Given the description of an element on the screen output the (x, y) to click on. 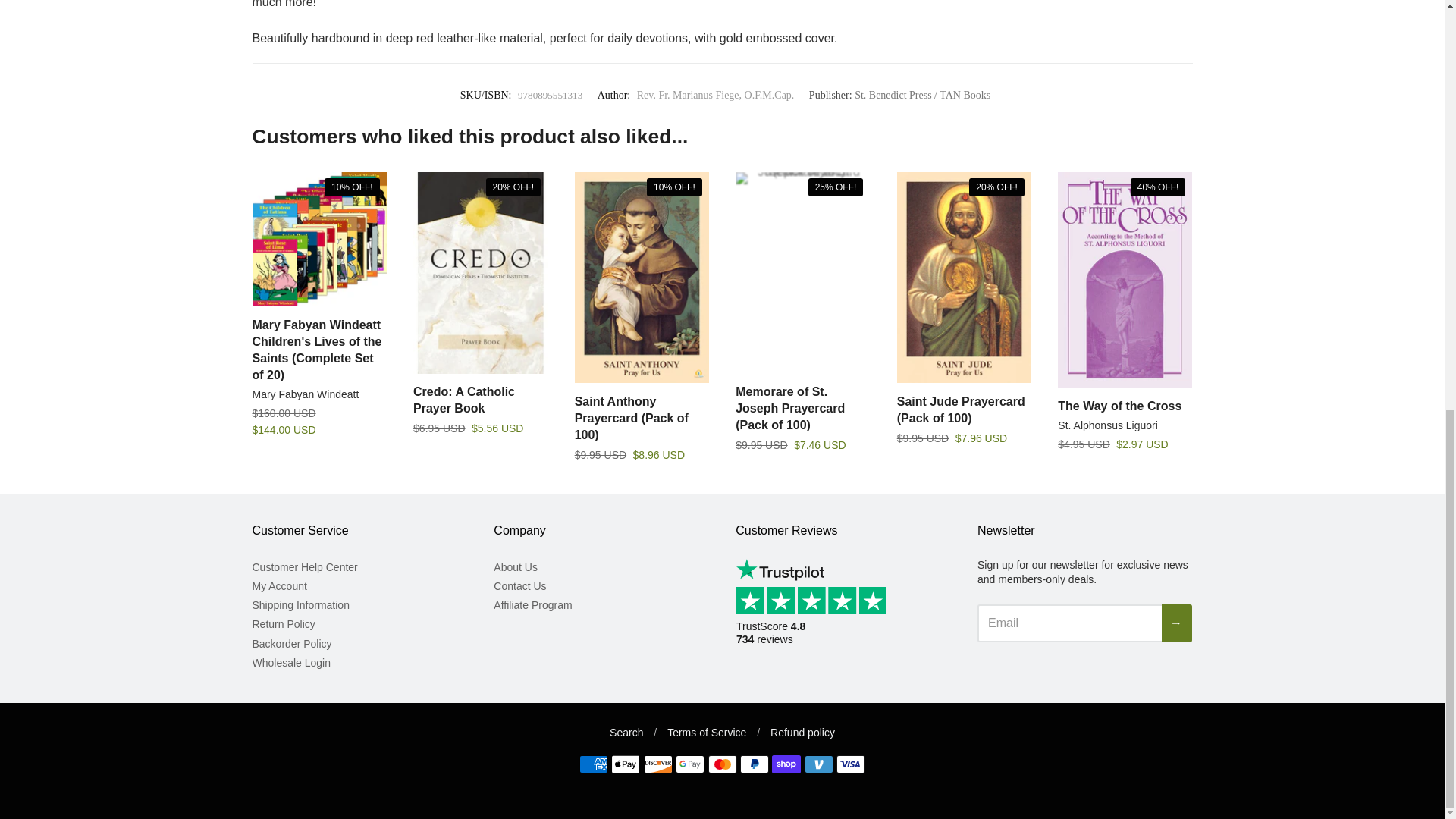
Credo: A Catholic Prayer Book (464, 399)
Shop Pay (785, 764)
Customer reviews powered by Trustpilot (815, 614)
PayPal (753, 764)
Mastercard (721, 764)
Apple Pay (625, 764)
Visa (849, 764)
Google Pay (689, 764)
American Express (593, 764)
The Way of the Cross (1119, 405)
Venmo (818, 764)
Discover (657, 764)
